Given the description of an element on the screen output the (x, y) to click on. 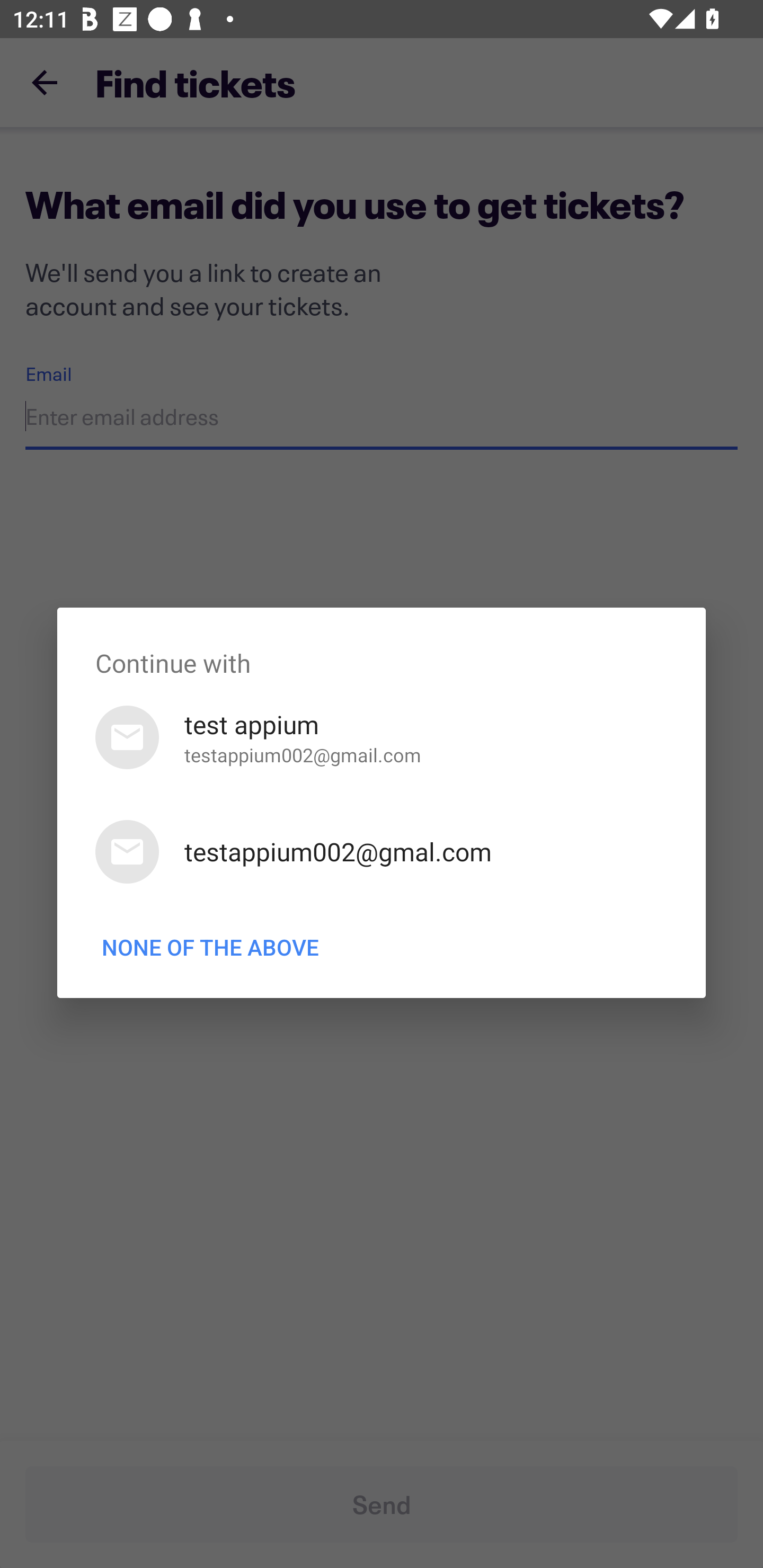
test appium test appium testappium002@gmail.com (381, 737)
testappium002@gmal.com (381, 851)
NONE OF THE ABOVE (210, 946)
